Given the description of an element on the screen output the (x, y) to click on. 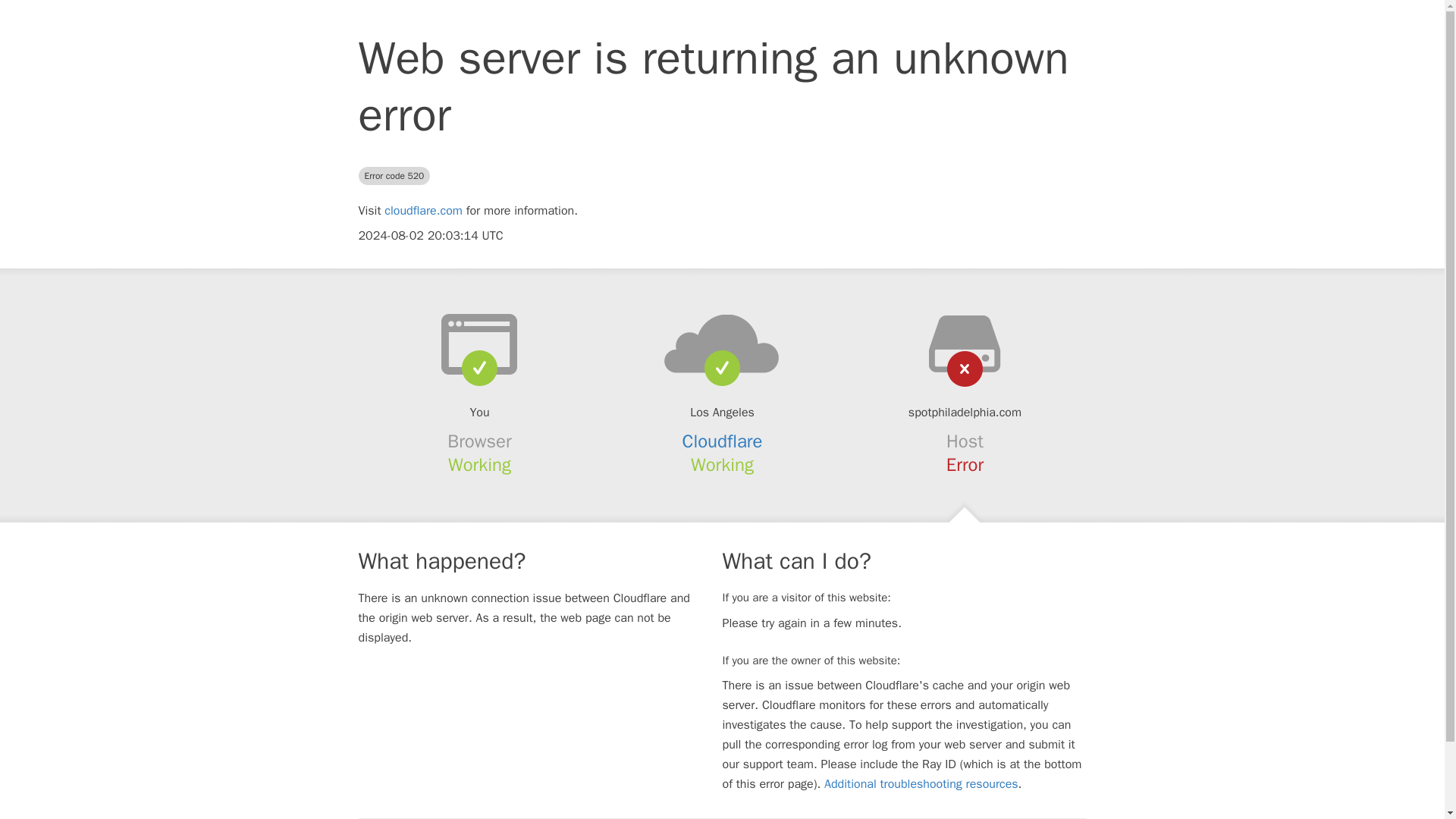
Cloudflare (722, 440)
cloudflare.com (423, 210)
Additional troubleshooting resources (920, 783)
